Given the description of an element on the screen output the (x, y) to click on. 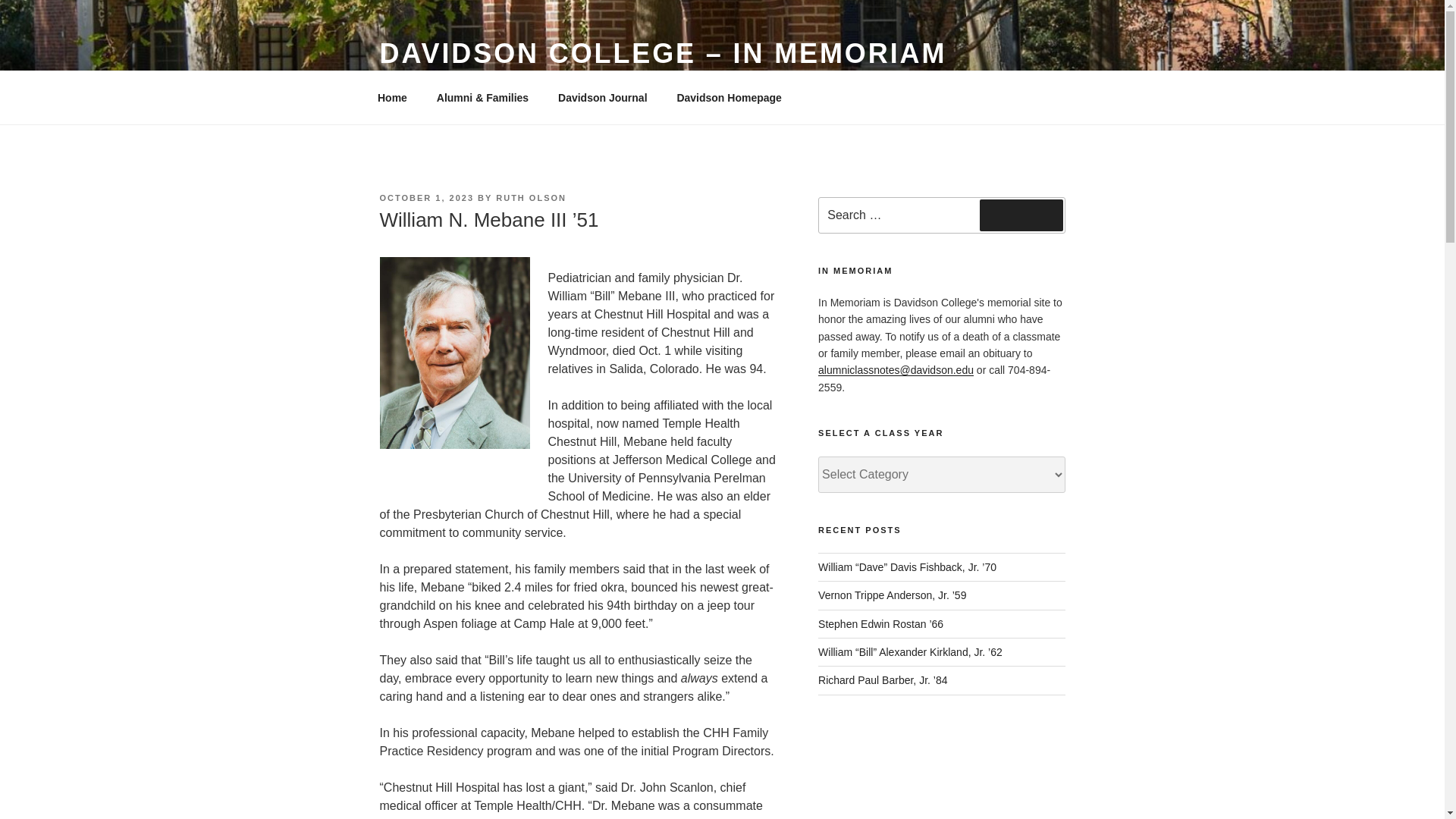
Home (392, 97)
OCTOBER 1, 2023 (426, 197)
Davidson Journal (602, 97)
RUTH OLSON (531, 197)
Search (1020, 214)
Davidson Homepage (728, 97)
